Given the description of an element on the screen output the (x, y) to click on. 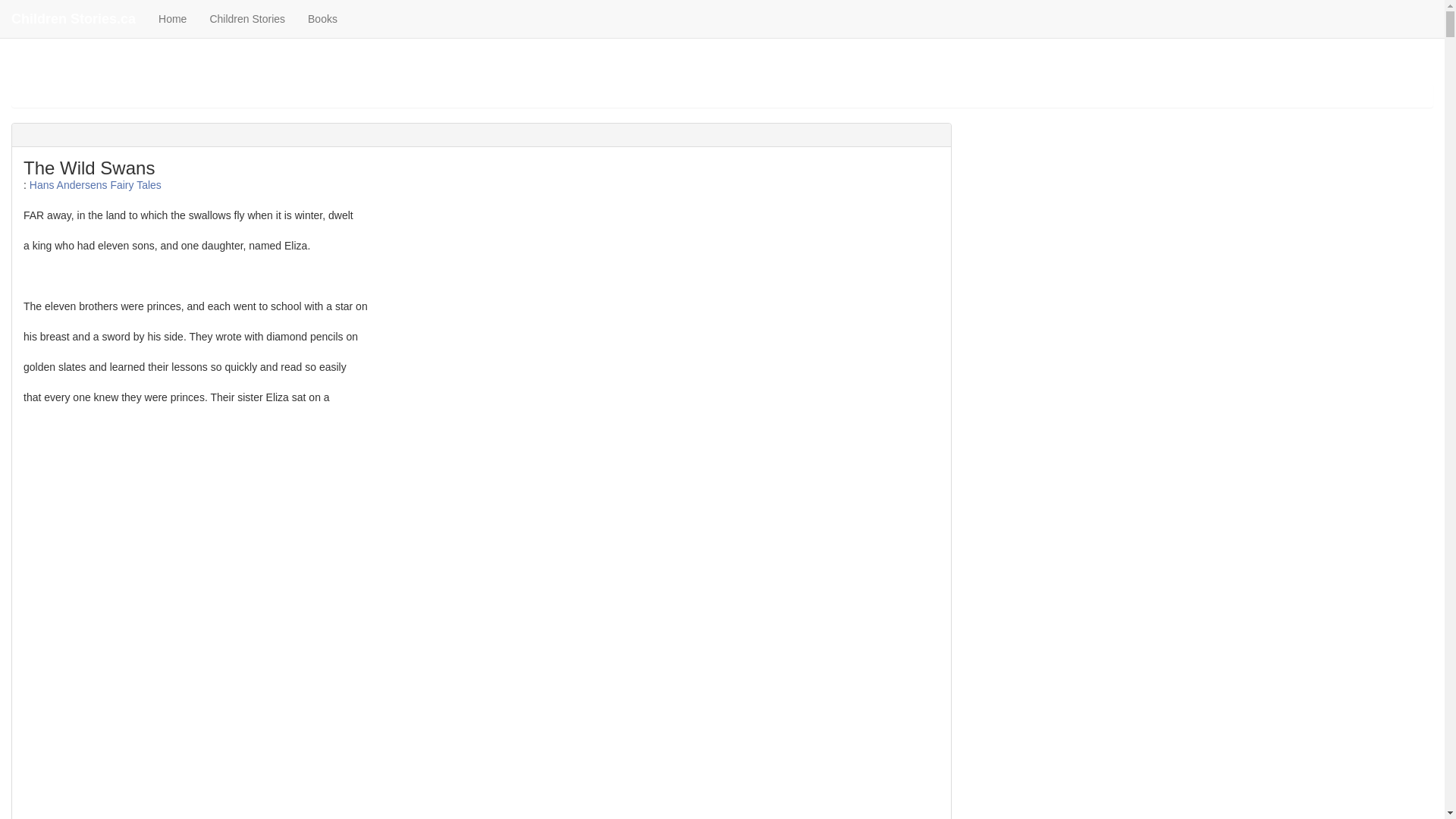
Books (323, 18)
Hans Andersens Fairy Tales (95, 184)
Children Stories (247, 18)
Home (172, 18)
Children Stories.ca (73, 18)
